Given the description of an element on the screen output the (x, y) to click on. 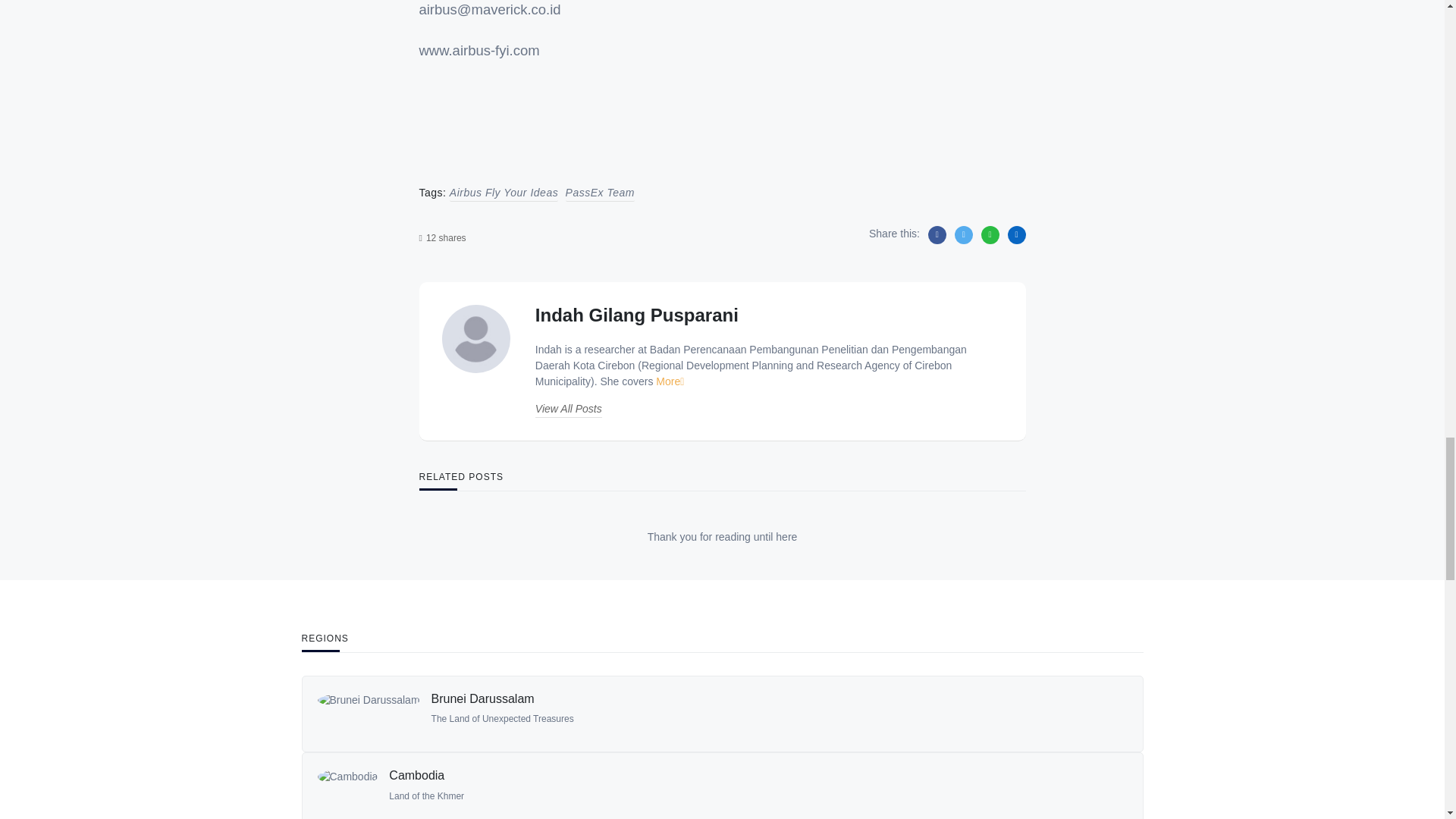
Brunei Darussalam (482, 698)
Cambodia (347, 791)
Airbus Fly Your Ideas (503, 193)
Cambodia (416, 775)
PassEx Team (600, 193)
Posted by Indah Gilang Pusparani (636, 314)
Brunei Darussalam (368, 714)
